Given the description of an element on the screen output the (x, y) to click on. 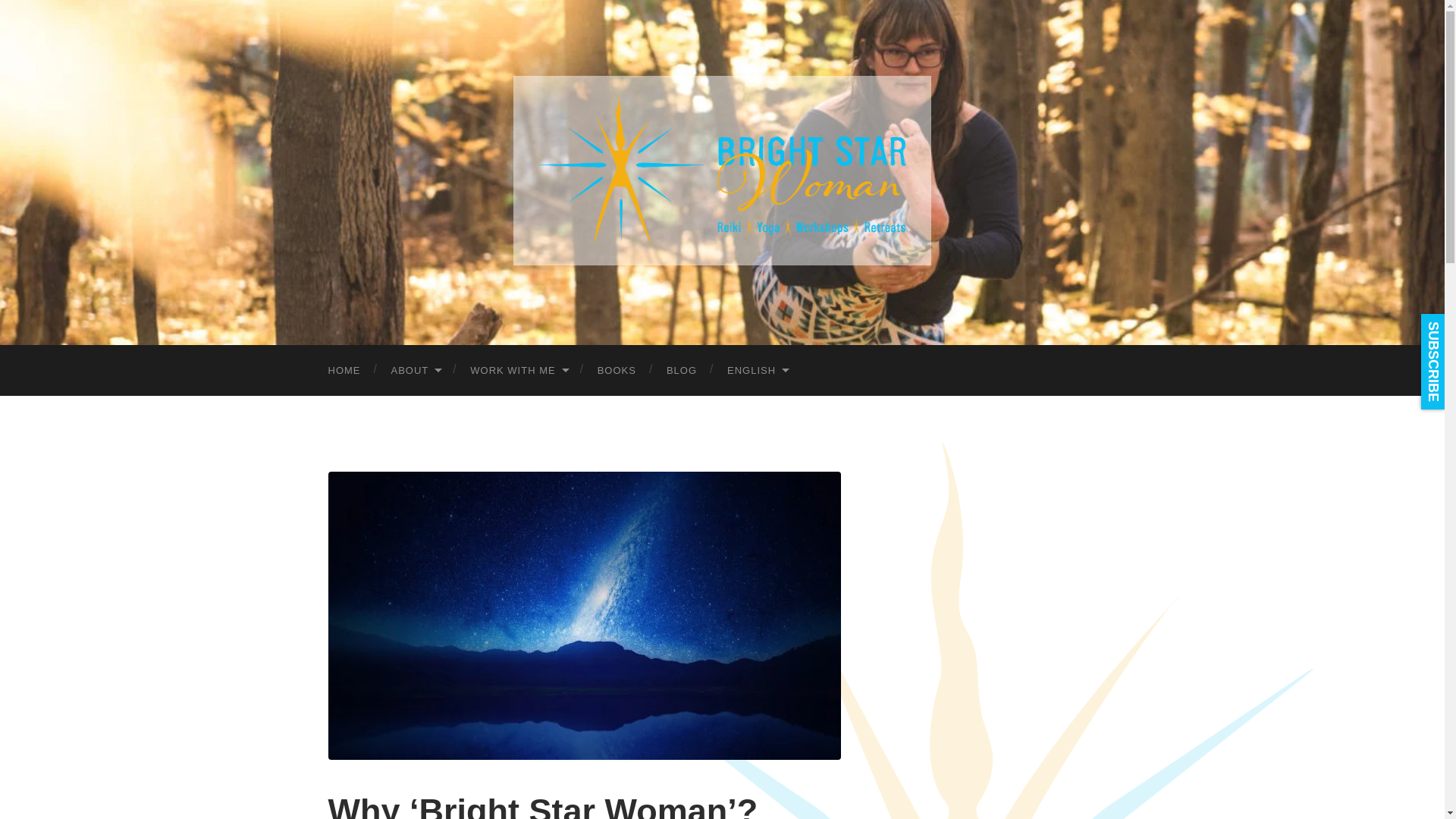
BOOKS (616, 369)
HOME (344, 369)
English (756, 369)
BLOG (680, 369)
WORK WITH ME (517, 369)
ENGLISH (756, 369)
ABOUT (415, 369)
